Given the description of an element on the screen output the (x, y) to click on. 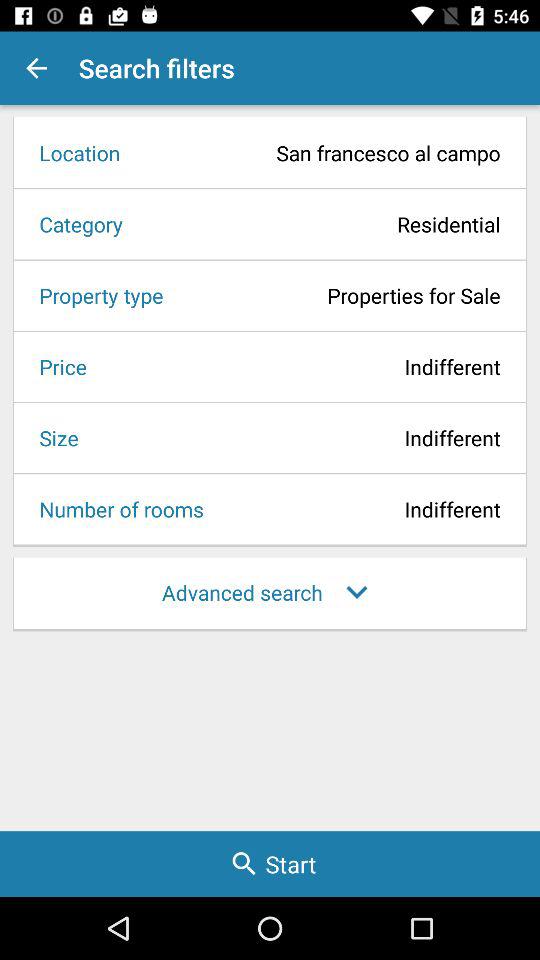
swipe until the price (56, 366)
